Given the description of an element on the screen output the (x, y) to click on. 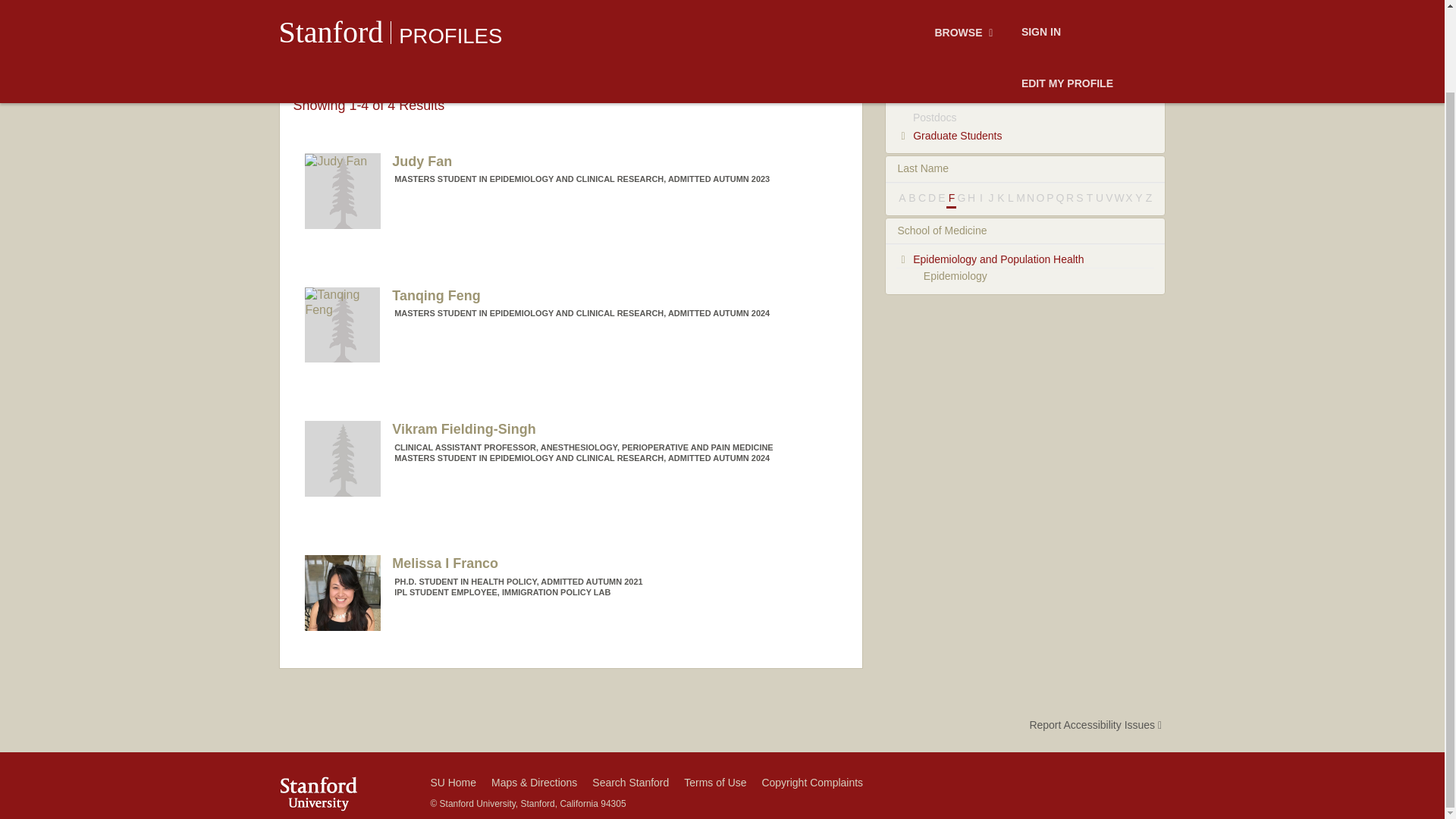
VIEW STANFORD-ONLY RESULTS (751, 31)
EDIT MY PROFILE (1067, 4)
